Given the description of an element on the screen output the (x, y) to click on. 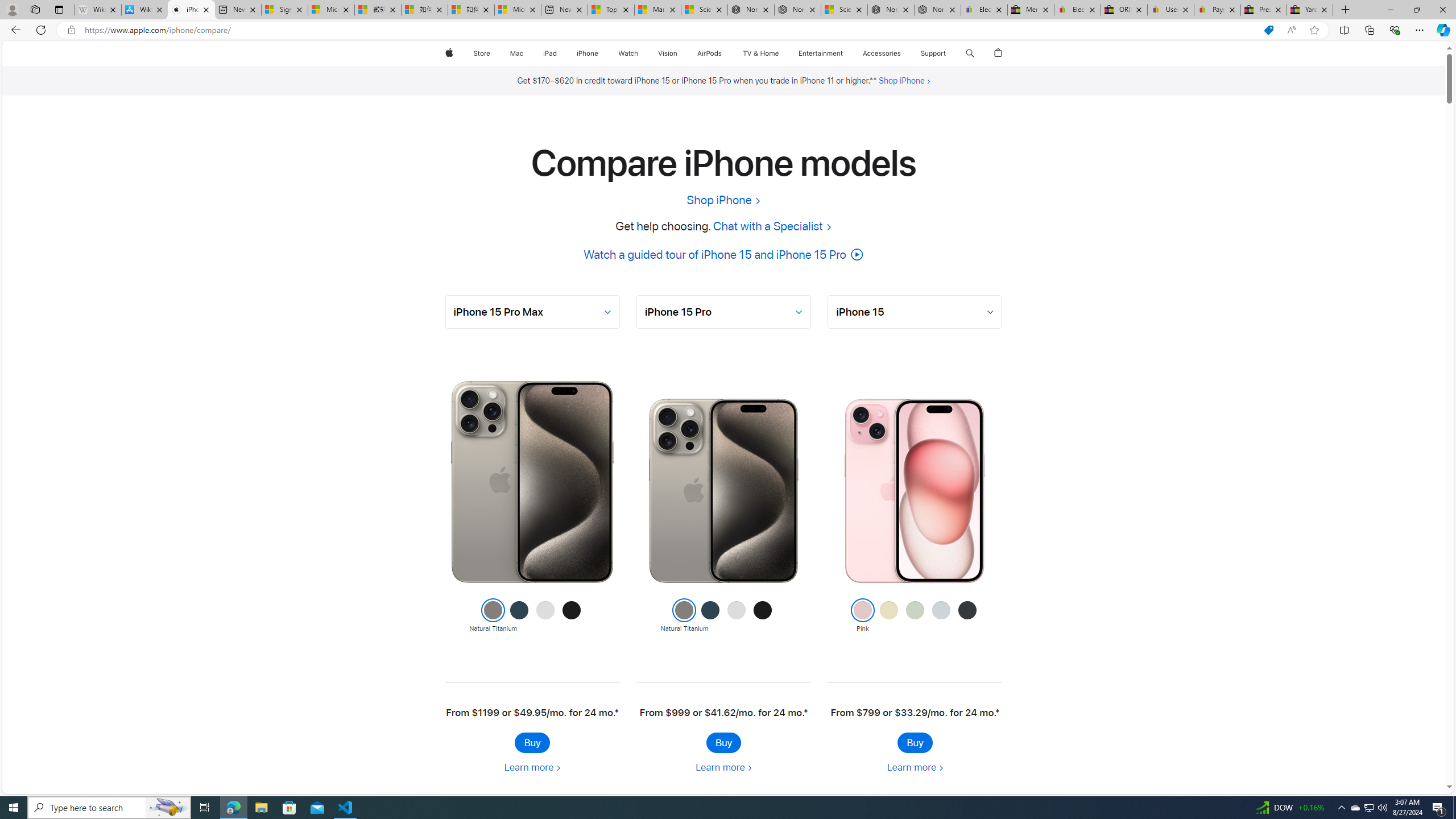
Apple (448, 53)
AirPods (709, 53)
iPhone (587, 53)
Vision (667, 53)
TV & Home (759, 53)
Accessories (881, 53)
Pink (862, 615)
